Given the description of an element on the screen output the (x, y) to click on. 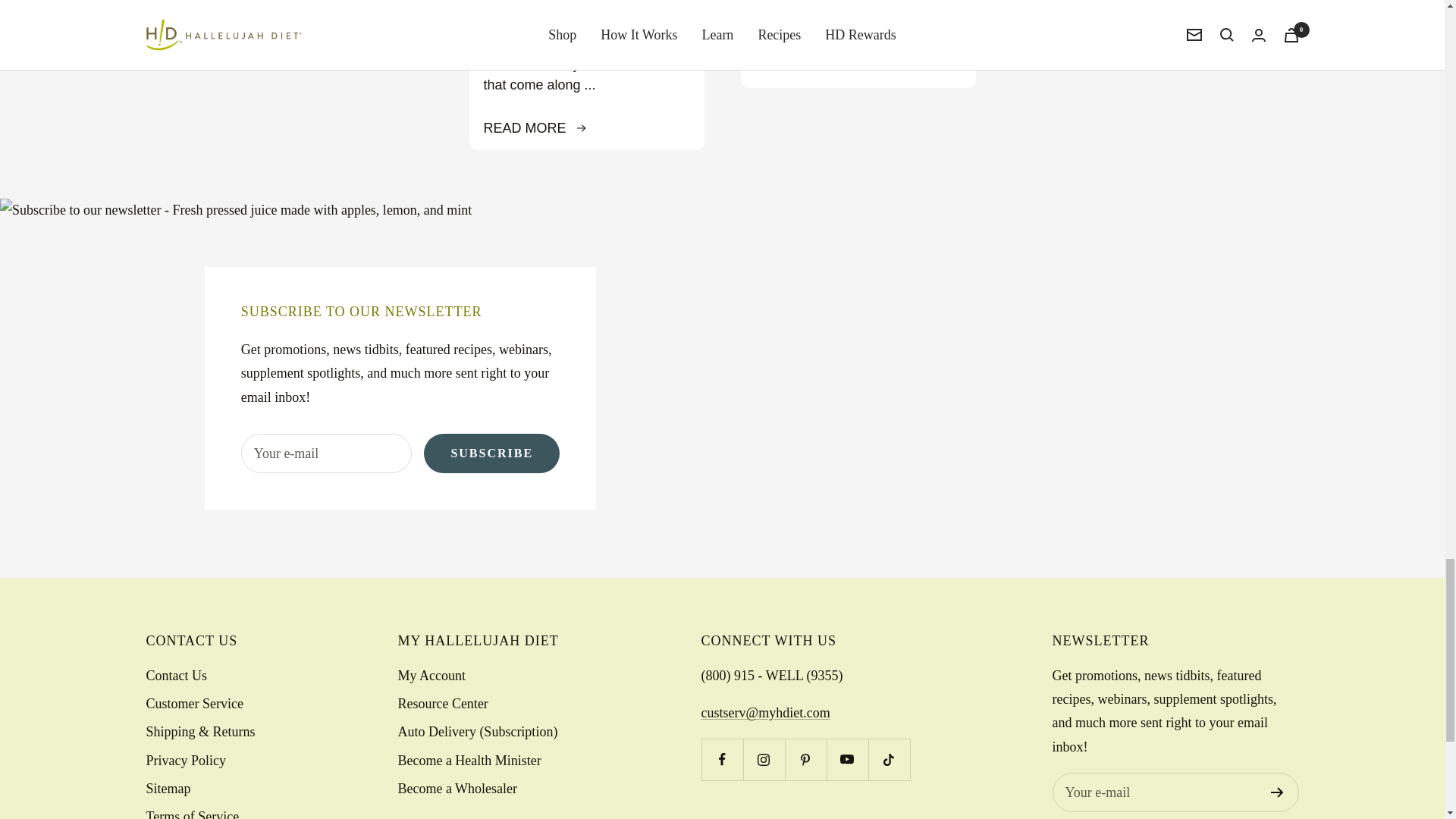
Register (1277, 792)
